Given the description of an element on the screen output the (x, y) to click on. 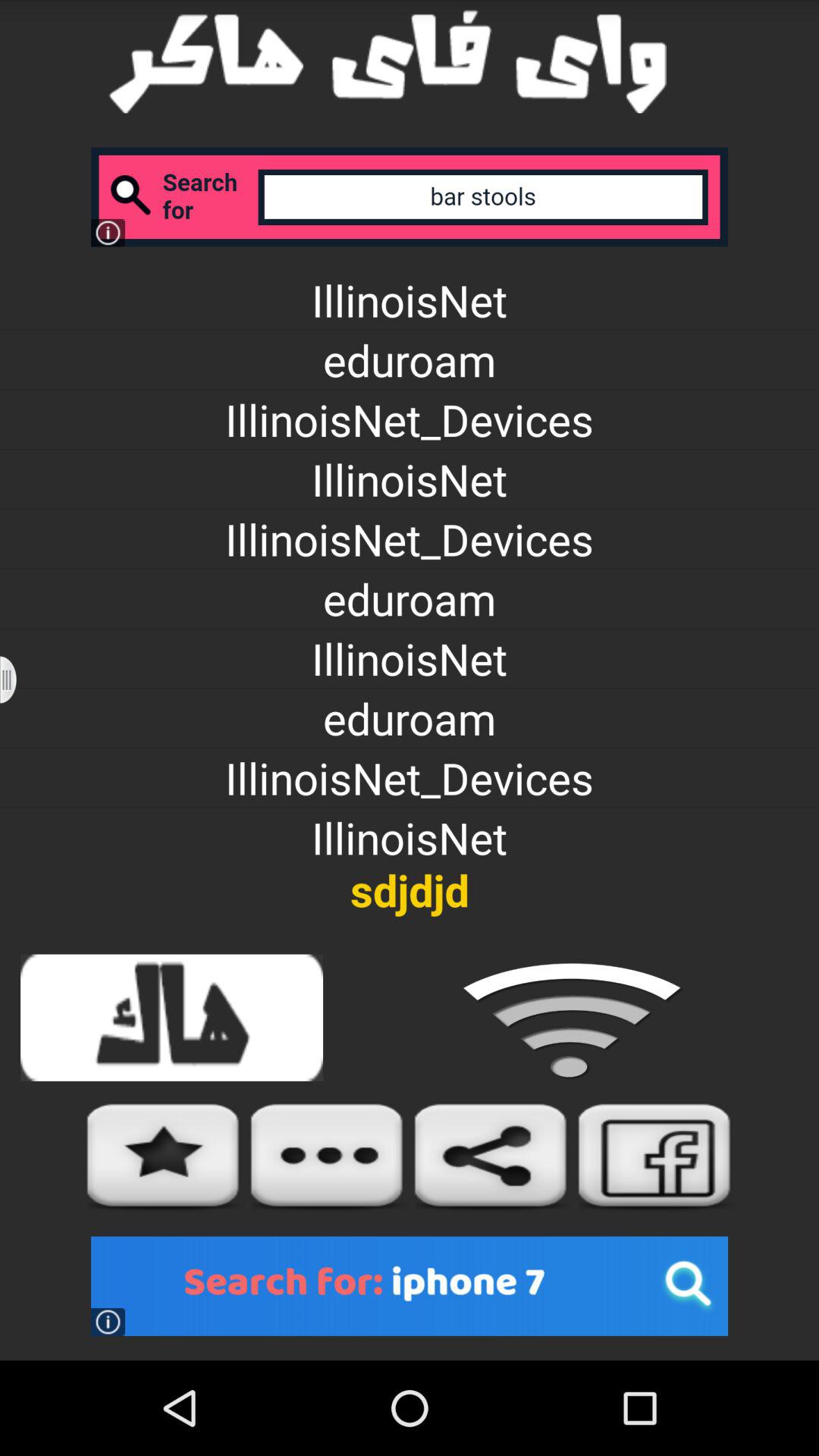
open google search for iphone 7 (409, 1285)
